Given the description of an element on the screen output the (x, y) to click on. 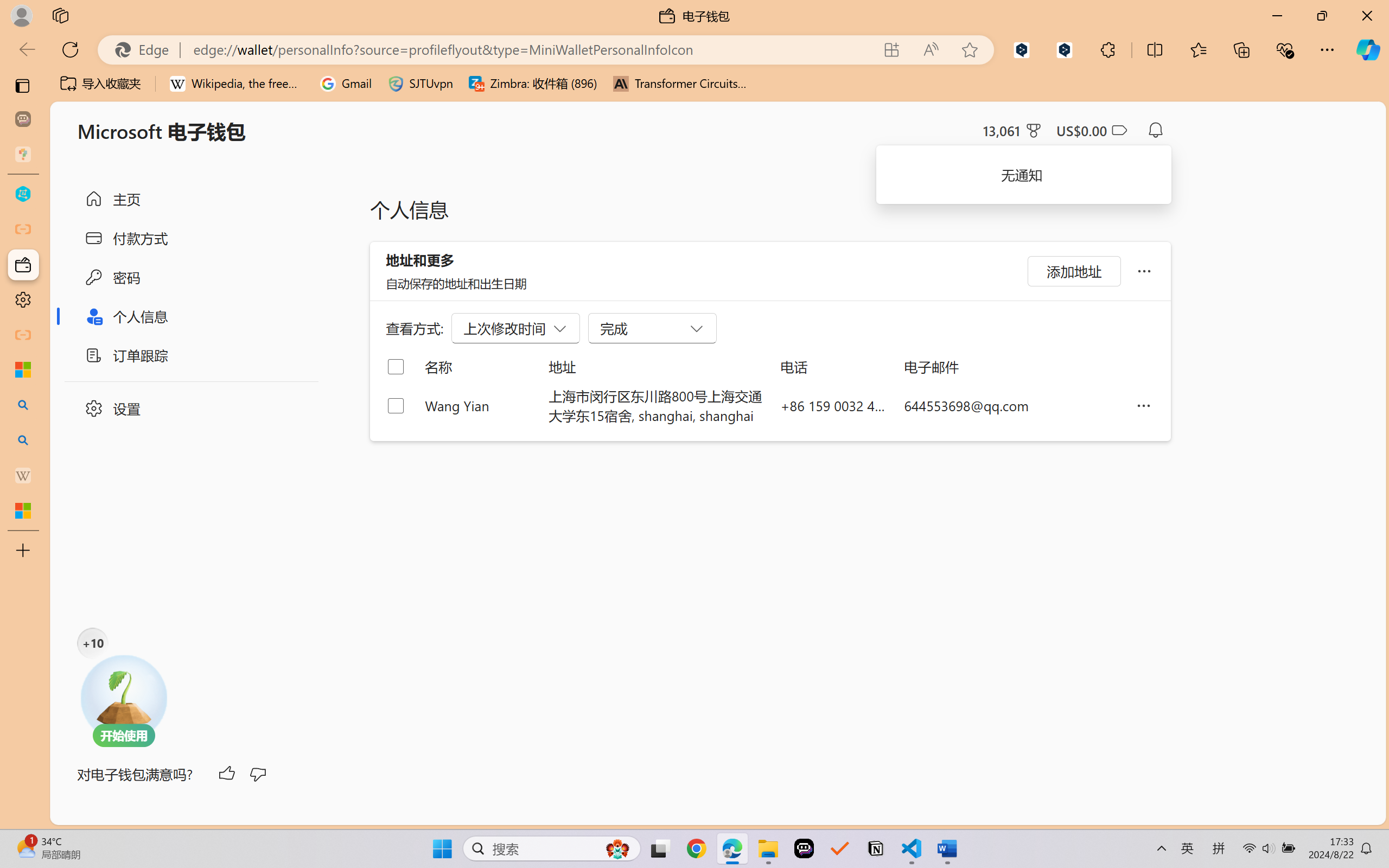
Class: ___1lmltc5 f1agt3bx f12qytpq (1118, 130)
Edge (146, 49)
